Given the description of an element on the screen output the (x, y) to click on. 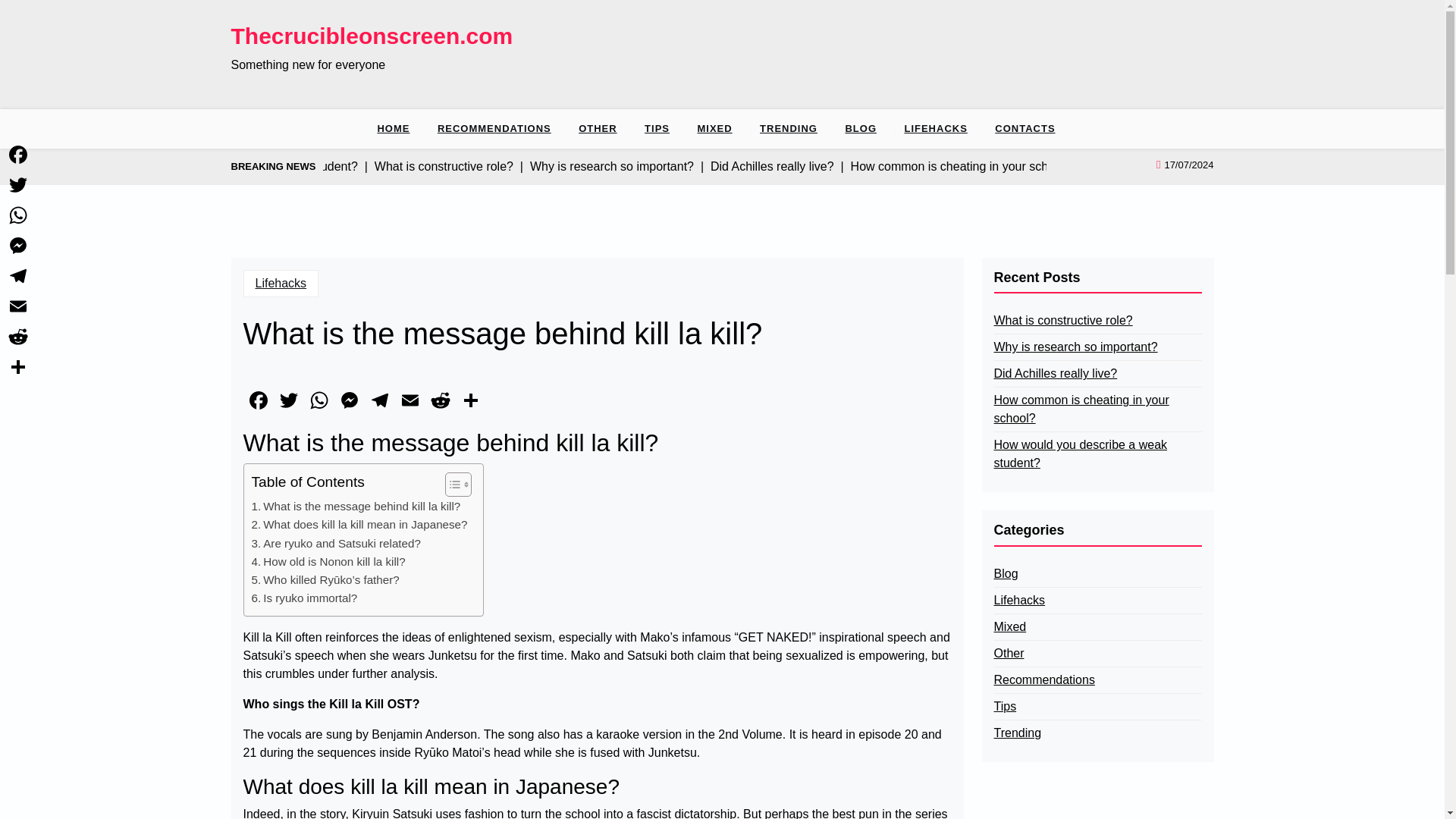
How old is Nonon kill la kill? (328, 561)
Facebook (17, 154)
Twitter (287, 402)
Email (17, 306)
WhatsApp (17, 214)
Facebook (258, 402)
Twitter (287, 402)
Email (409, 402)
What is the message behind kill la kill? (356, 506)
Telegram (17, 276)
What is the message behind kill la kill? (356, 506)
Telegram (379, 402)
TRENDING (788, 128)
Is ryuko immortal? (304, 597)
HOME (399, 128)
